Given the description of an element on the screen output the (x, y) to click on. 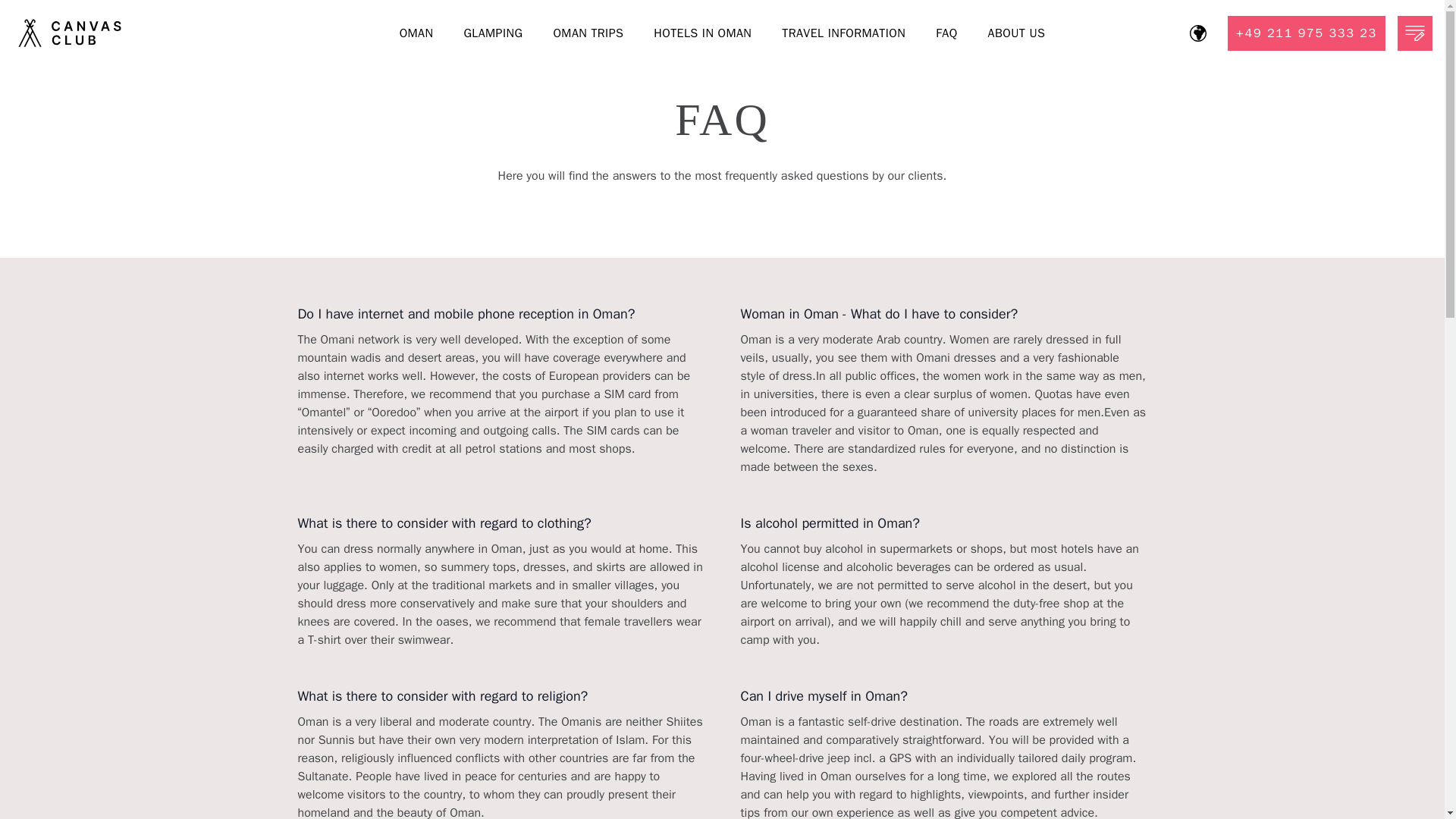
OMAN (416, 33)
TRAVEL INFORMATION (843, 33)
FAQ (946, 33)
Link to home page (193, 32)
ABOUT US (1016, 33)
Switch language (1197, 32)
OMAN TRIPS (587, 33)
GLAMPING (492, 33)
HOTELS IN OMAN (702, 33)
